Given the description of an element on the screen output the (x, y) to click on. 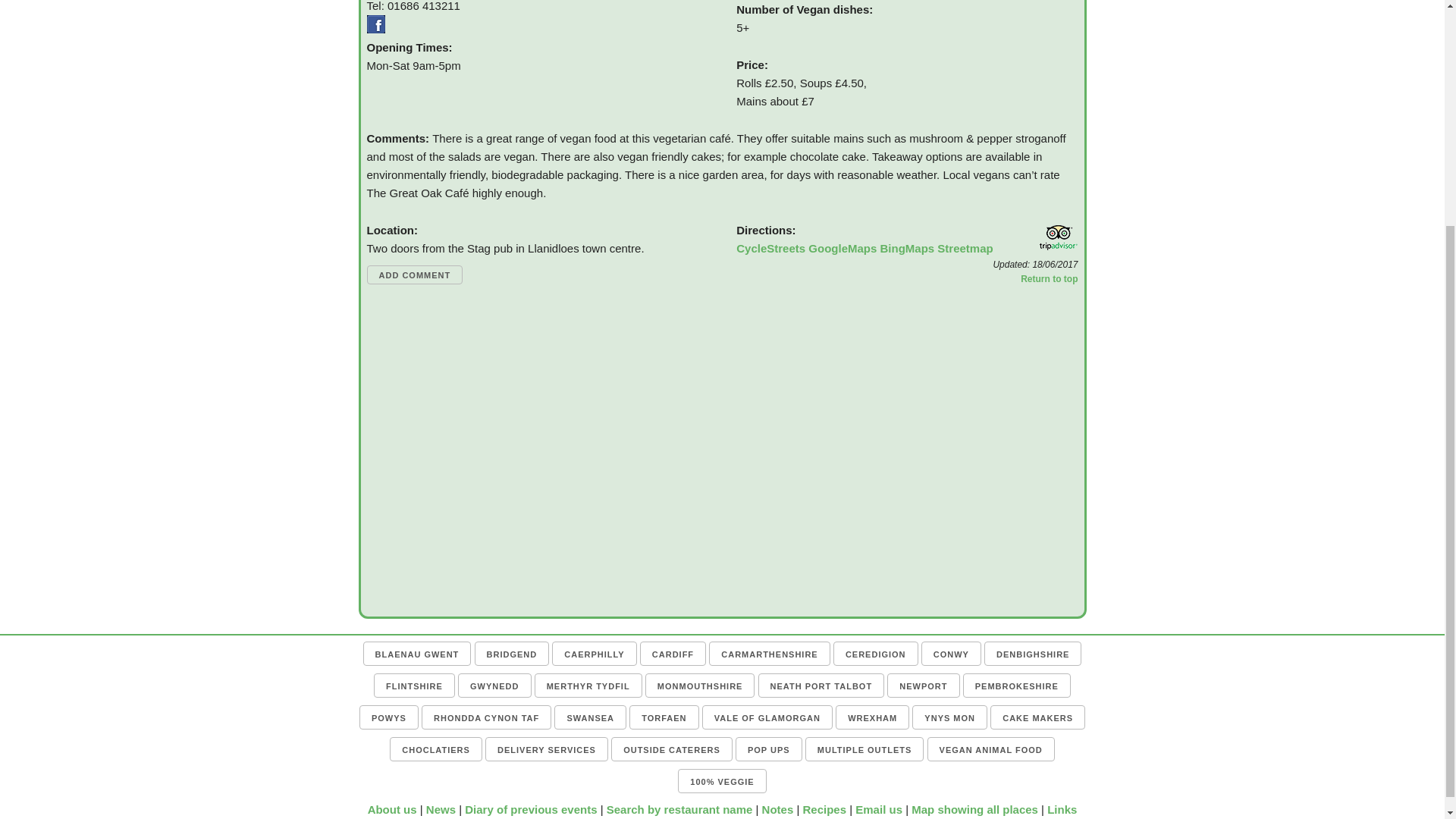
GoogleMaps (842, 247)
Streetmap (964, 247)
BingMaps (906, 247)
CycleStreets (770, 247)
